Given the description of an element on the screen output the (x, y) to click on. 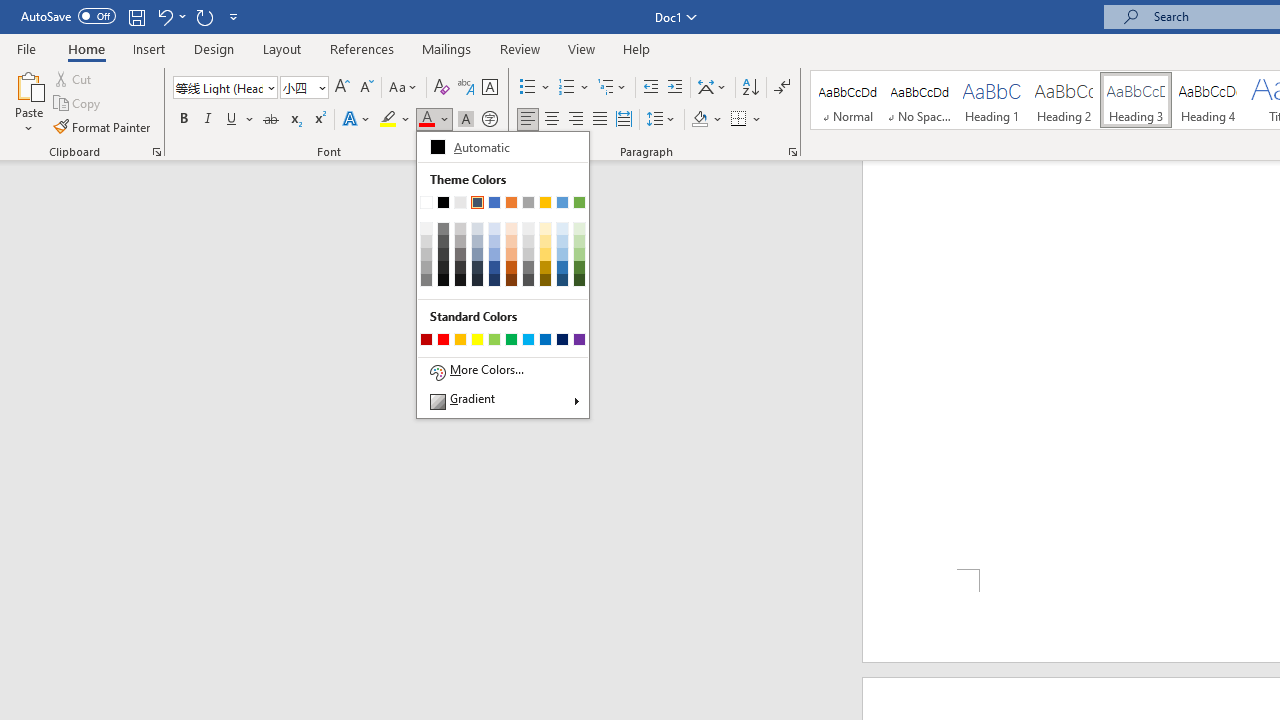
Numbering (566, 87)
Numbering (573, 87)
Review (520, 48)
Bold (183, 119)
Phonetic Guide... (465, 87)
Text Highlight Color Yellow (388, 119)
Copy (78, 103)
Font (218, 87)
Open (320, 87)
Character Border (489, 87)
Strikethrough (270, 119)
Save (136, 15)
Distributed (623, 119)
Enclose Characters... (489, 119)
